Given the description of an element on the screen output the (x, y) to click on. 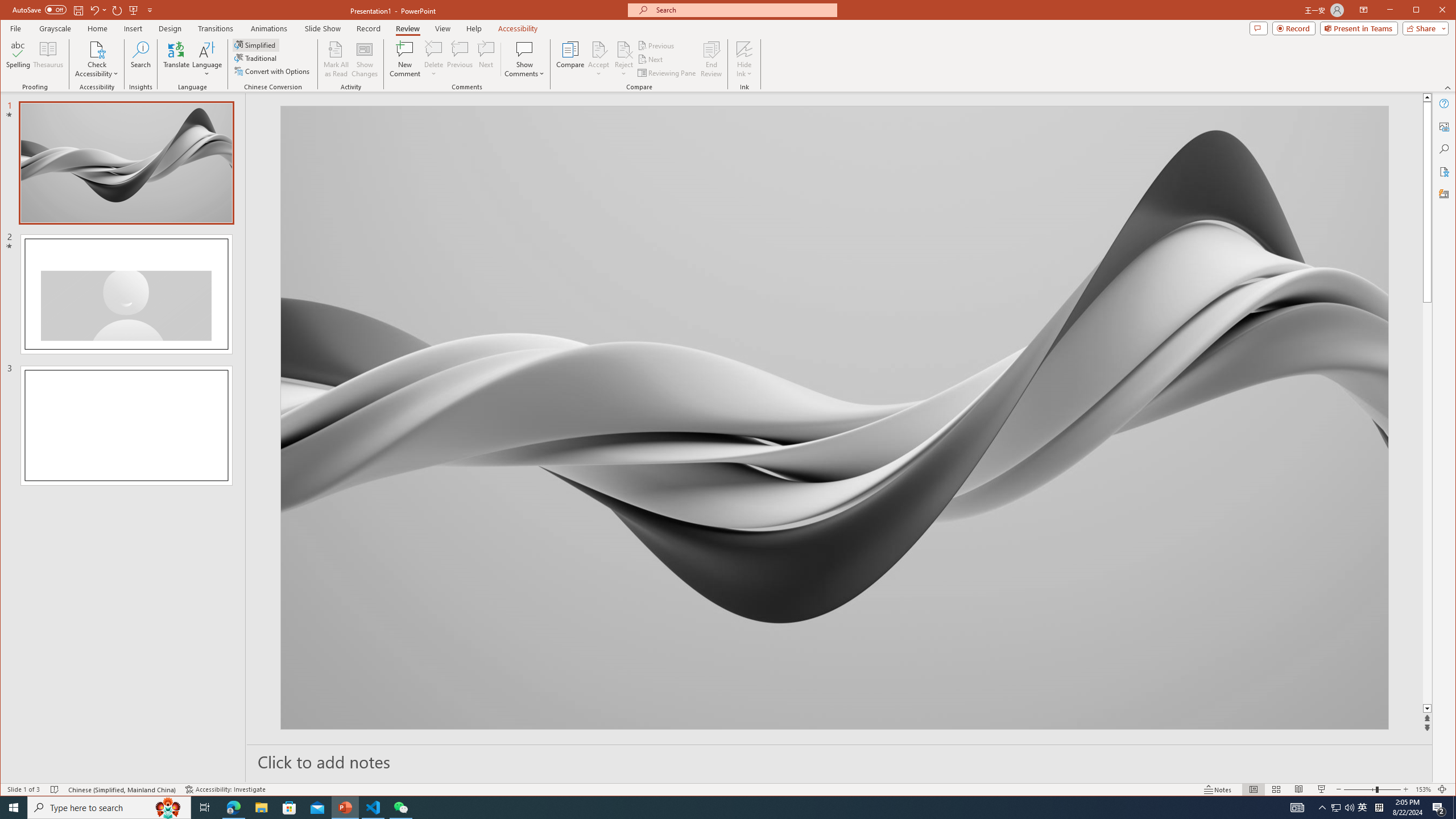
Convert with Options... (272, 70)
Reviewing Pane (667, 72)
Reject Change (623, 48)
Next (651, 59)
